Given the description of an element on the screen output the (x, y) to click on. 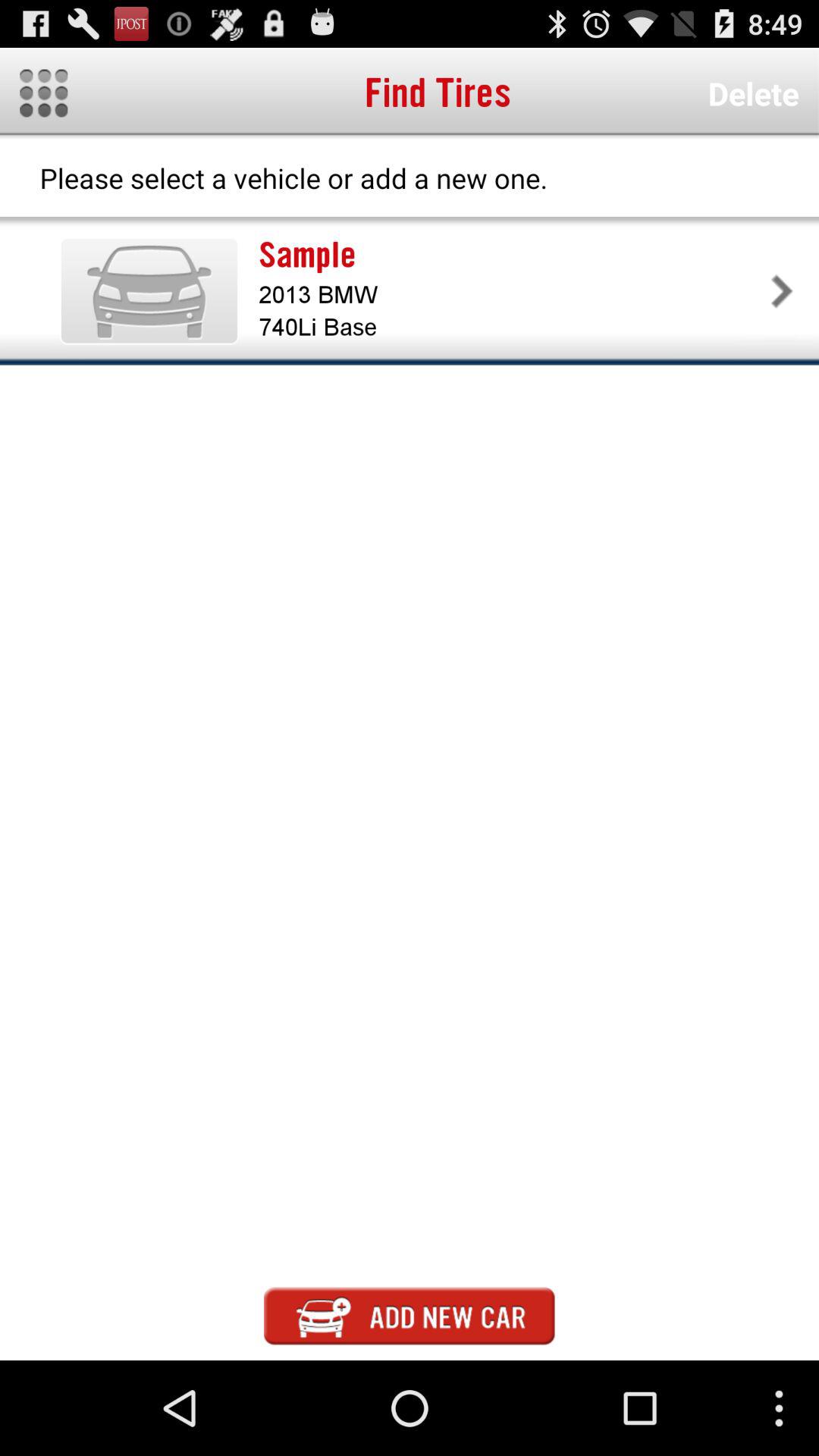
thumbnail images (43, 93)
